Given the description of an element on the screen output the (x, y) to click on. 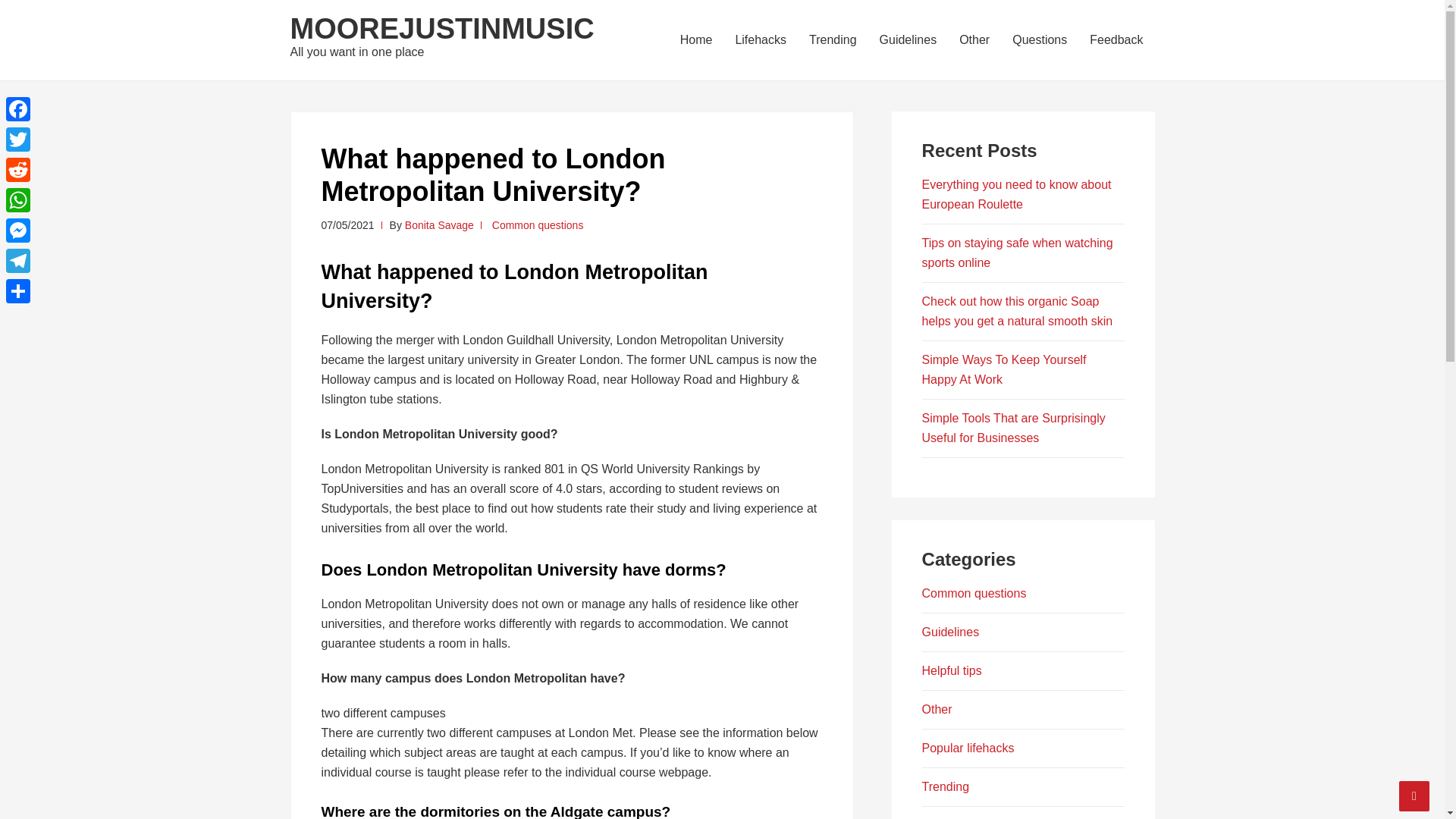
WhatsApp (17, 200)
MOOREJUSTINMUSIC (441, 29)
Guidelines (950, 631)
Questions (1039, 39)
Helpful tips (951, 670)
Simple Ways To Keep Yourself Happy At Work (1003, 368)
Facebook (17, 109)
View all posts by Bonita Savage (439, 224)
Lifehacks (760, 39)
Feedback (1116, 39)
Trending (945, 786)
Facebook (17, 109)
Twitter (17, 139)
Guidelines (908, 39)
Popular lifehacks (967, 748)
